Given the description of an element on the screen output the (x, y) to click on. 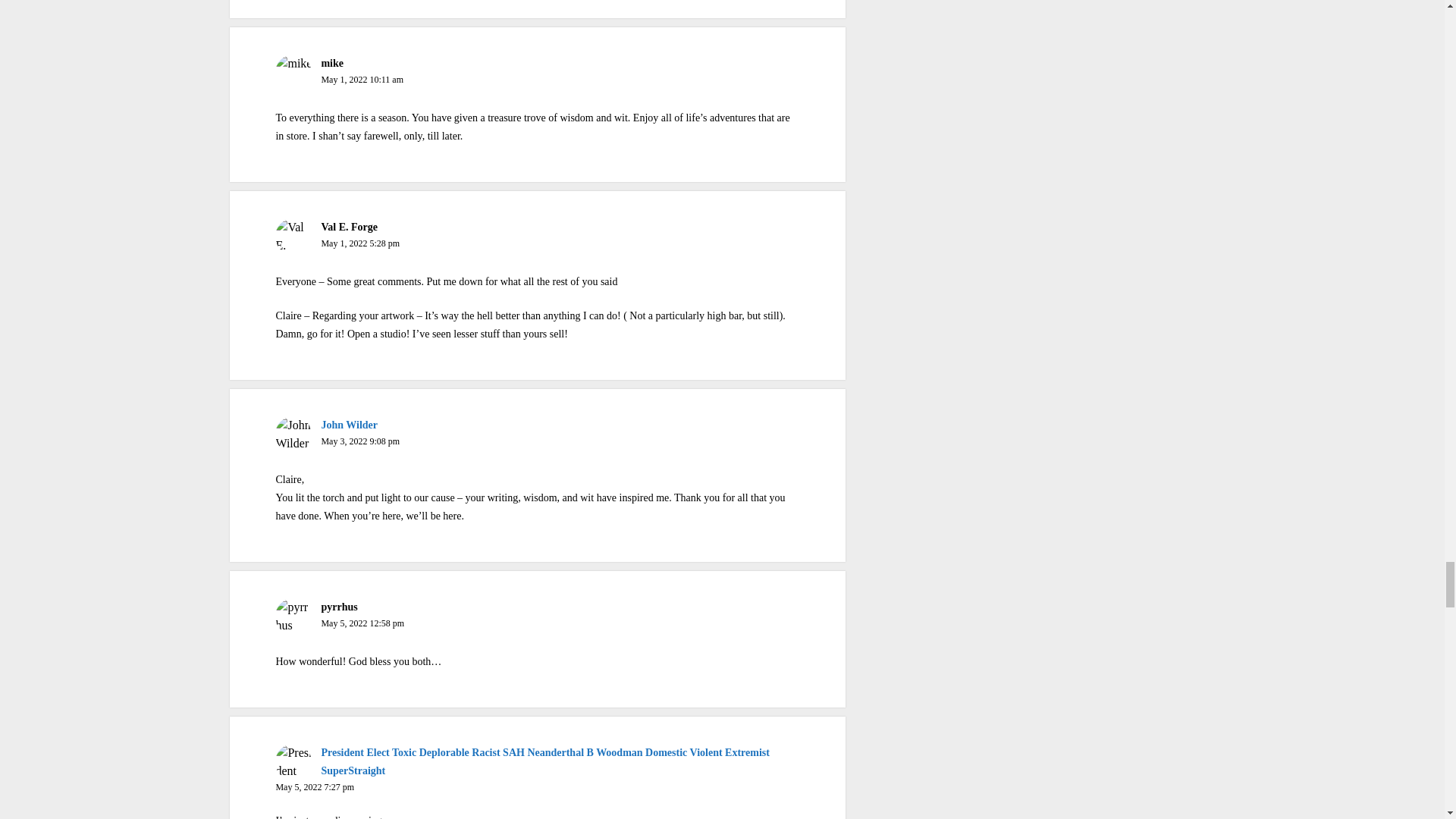
John Wilder (348, 424)
